Given the description of an element on the screen output the (x, y) to click on. 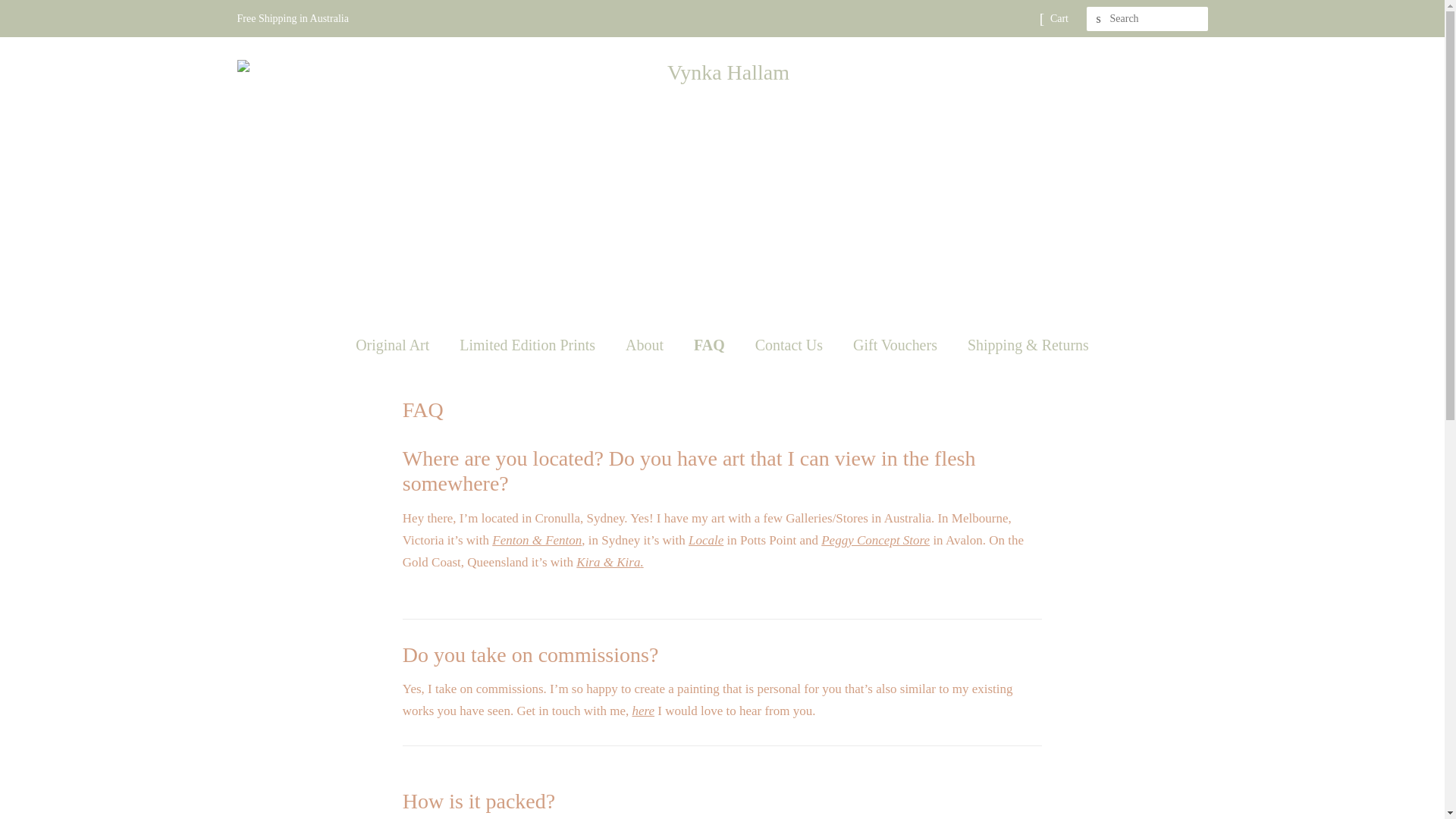
Original Art (399, 344)
Gift Vouchers (896, 344)
Search (1097, 18)
Cart (1058, 18)
Locale (705, 540)
Free Shipping in Australia (291, 18)
FAQ (710, 344)
Contact Us (791, 344)
About (646, 344)
Peggy Concept Store (875, 540)
